Given the description of an element on the screen output the (x, y) to click on. 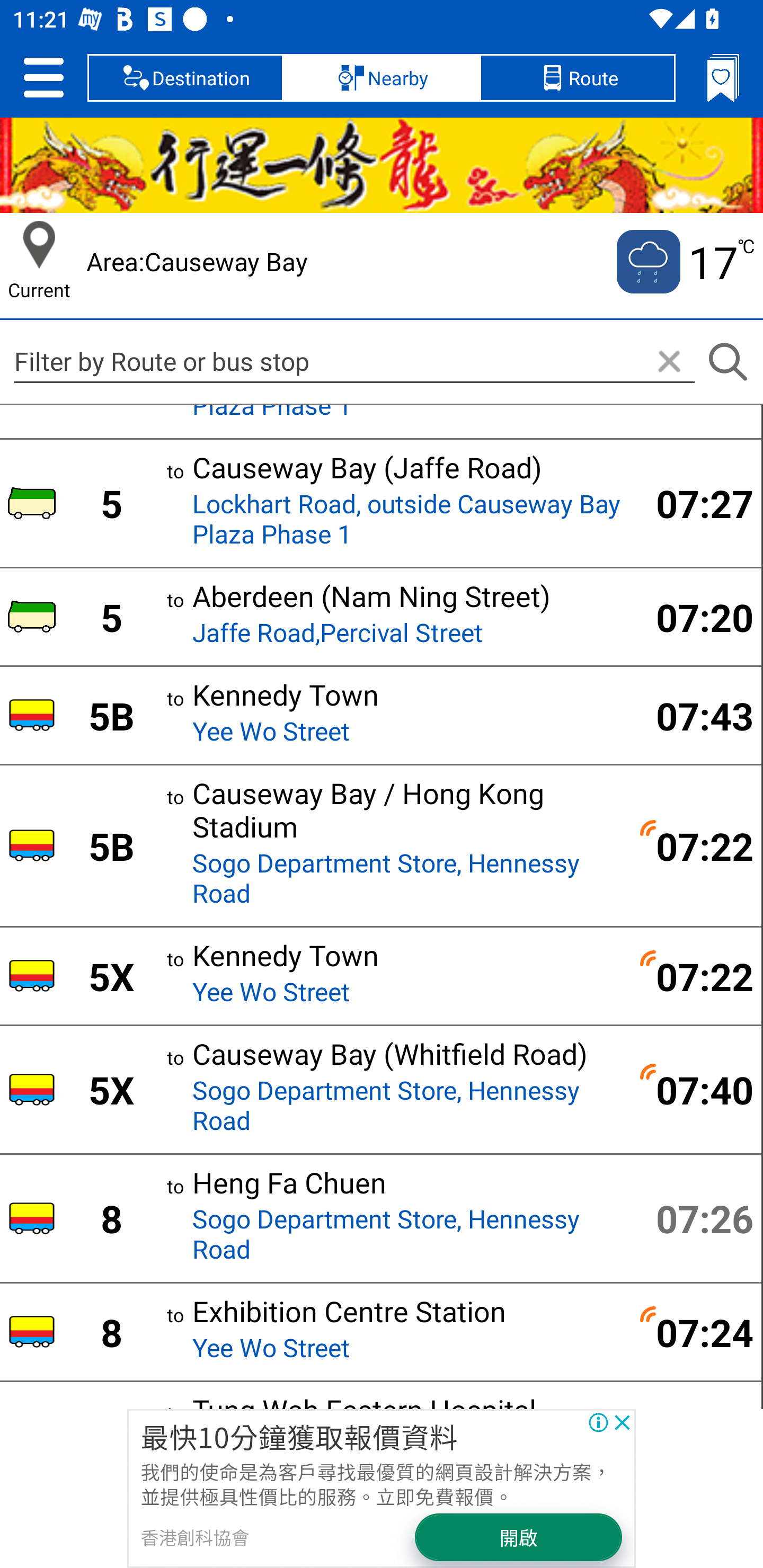
Destination (185, 77)
Nearby, selected (381, 77)
Route (577, 77)
Bookmarks (723, 77)
Setting (43, 77)
Lunar New Year 2024 (381, 165)
Current Location (38, 244)
Current temputure is  17  no 17 ℃ (684, 261)
Filter by Route or bus stop (354, 361)
Search (727, 362)
Clear (669, 361)
07:27 (693, 502)
07:20 (693, 616)
07:43 (693, 715)
07:22 (693, 845)
07:22 (693, 975)
07:40 (693, 1088)
07:26 (693, 1217)
07:24 (693, 1331)
最快10分鐘獲取報價資料 (299, 1435)
開啟 (519, 1537)
香港創科協會 (194, 1537)
